Given the description of an element on the screen output the (x, y) to click on. 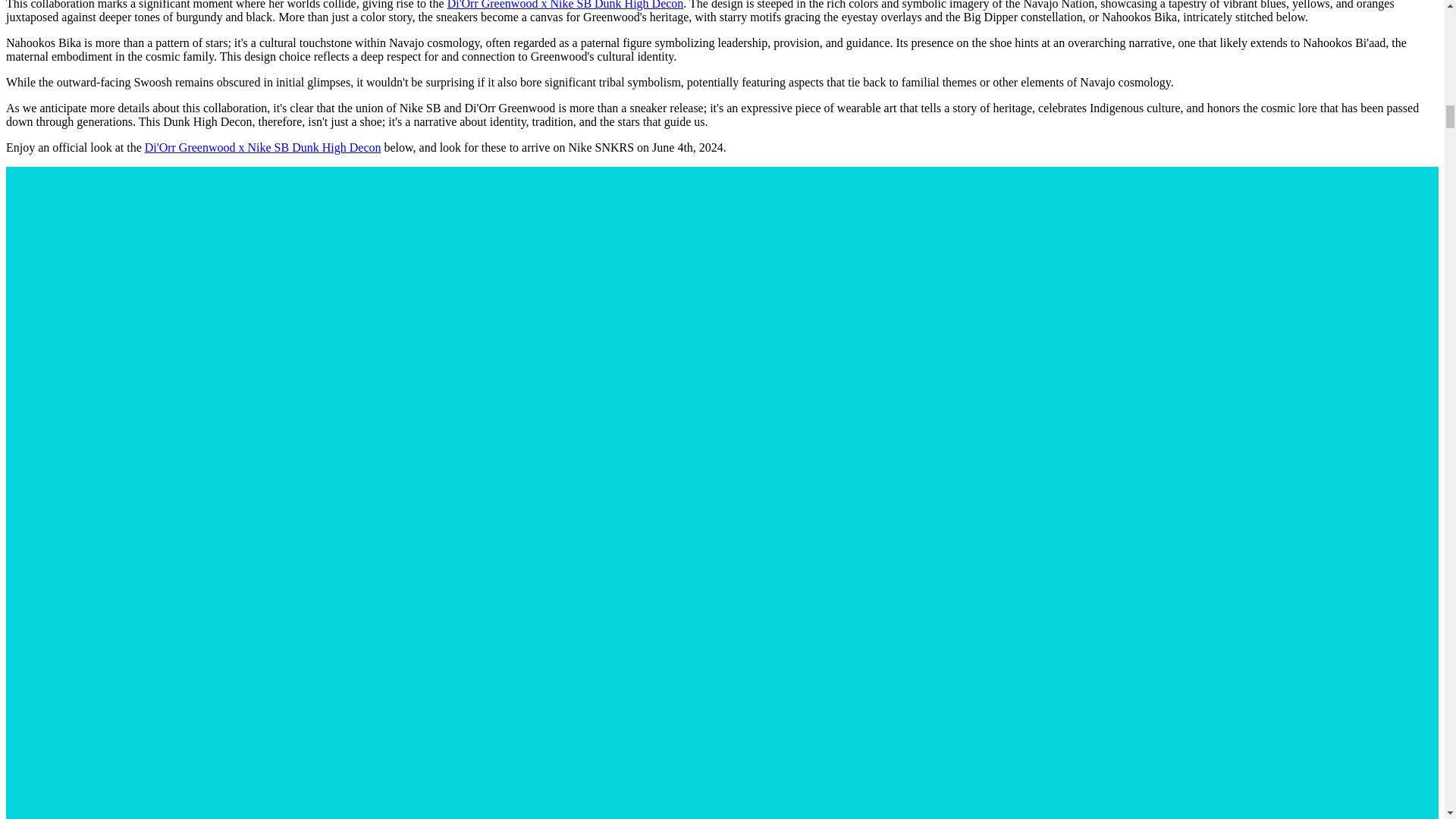
Di'Orr Greenwood x Nike SB Dunk High Decon (262, 146)
Di'Orr Greenwood x Nike SB Dunk High Decon (565, 4)
